Given the description of an element on the screen output the (x, y) to click on. 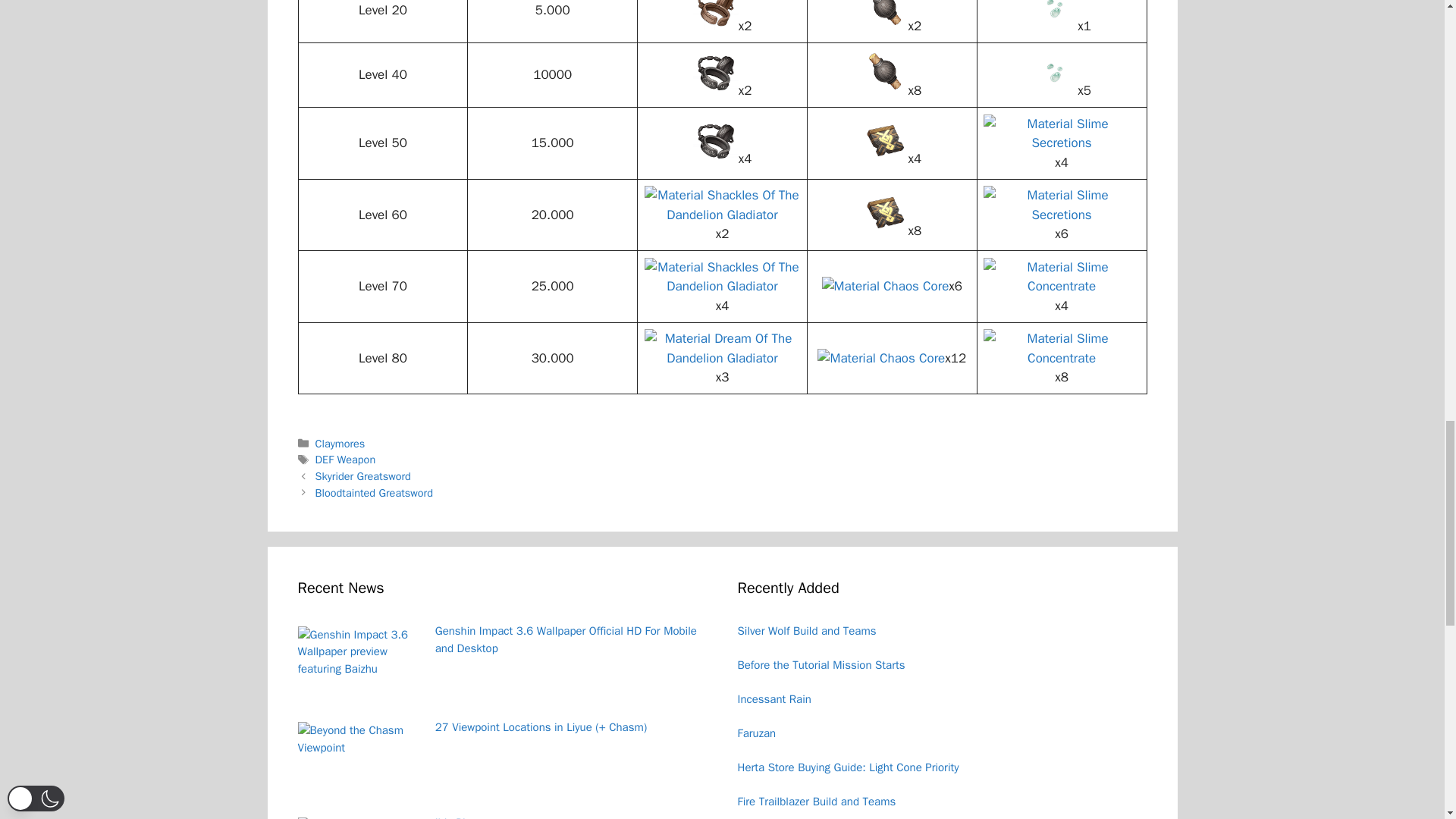
Chaos Circuit (884, 139)
Slime Condensate (1054, 72)
Fetters Of The Dandelion Gladiator (715, 15)
Slime Secretions (1062, 133)
Chaos Device (884, 72)
Chains Of The Dandelion Gladiator (715, 139)
Chains Of The Dandelion Gladiator (715, 72)
Chaos Device (884, 15)
Slime Condensate (1054, 15)
